Given the description of an element on the screen output the (x, y) to click on. 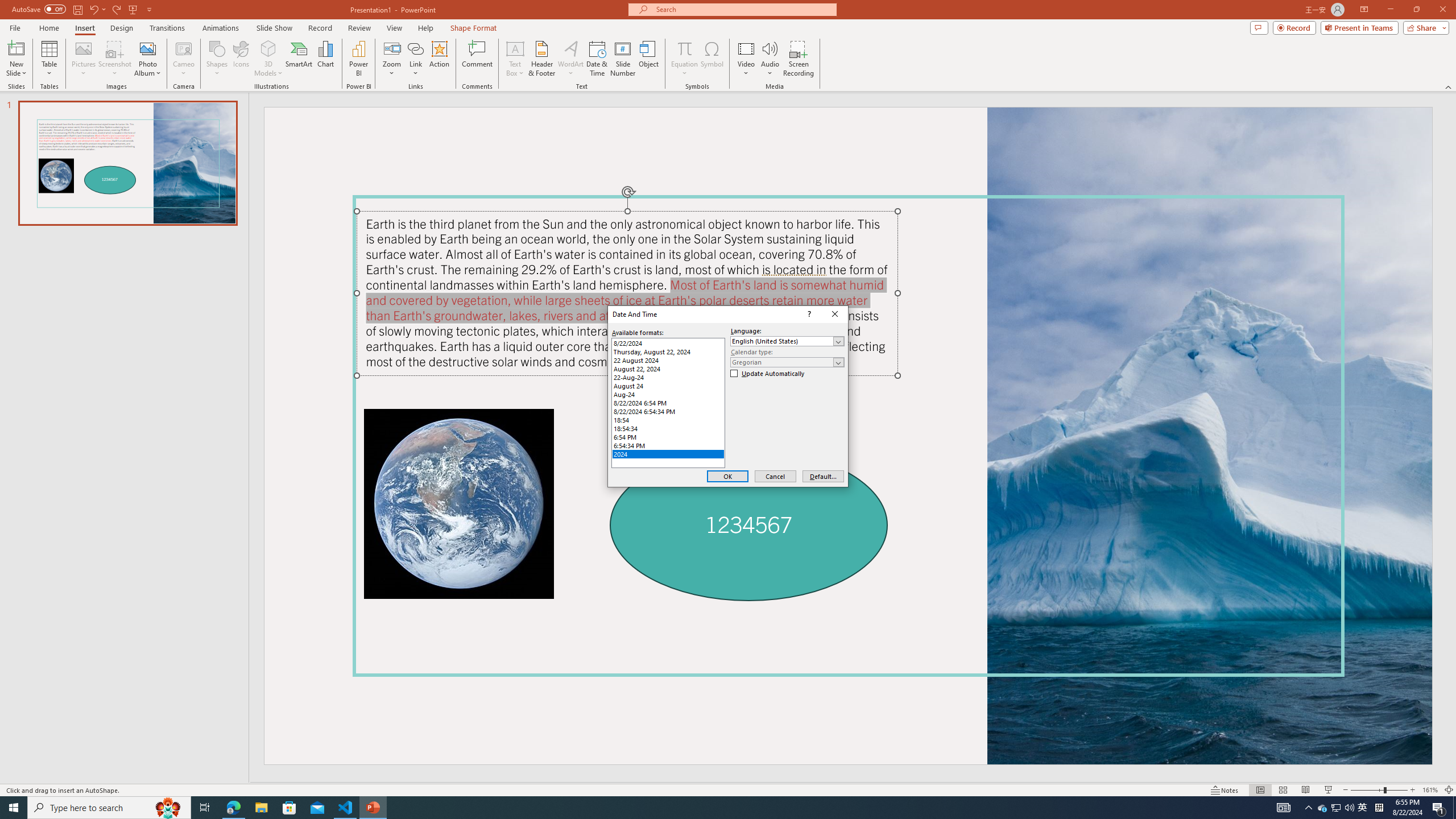
Insert (83, 28)
Notes  (1225, 790)
Tray Input Indicator - Chinese (Simplified, China) (1378, 807)
Minimize (1390, 9)
Zoom In (1412, 790)
Header & Footer... (541, 58)
Action (439, 58)
8/22/2024 (667, 343)
Microsoft Store (289, 807)
Start (13, 807)
Screen Recording... (798, 58)
Show desktop (1454, 807)
AutoSave (38, 9)
